Given the description of an element on the screen output the (x, y) to click on. 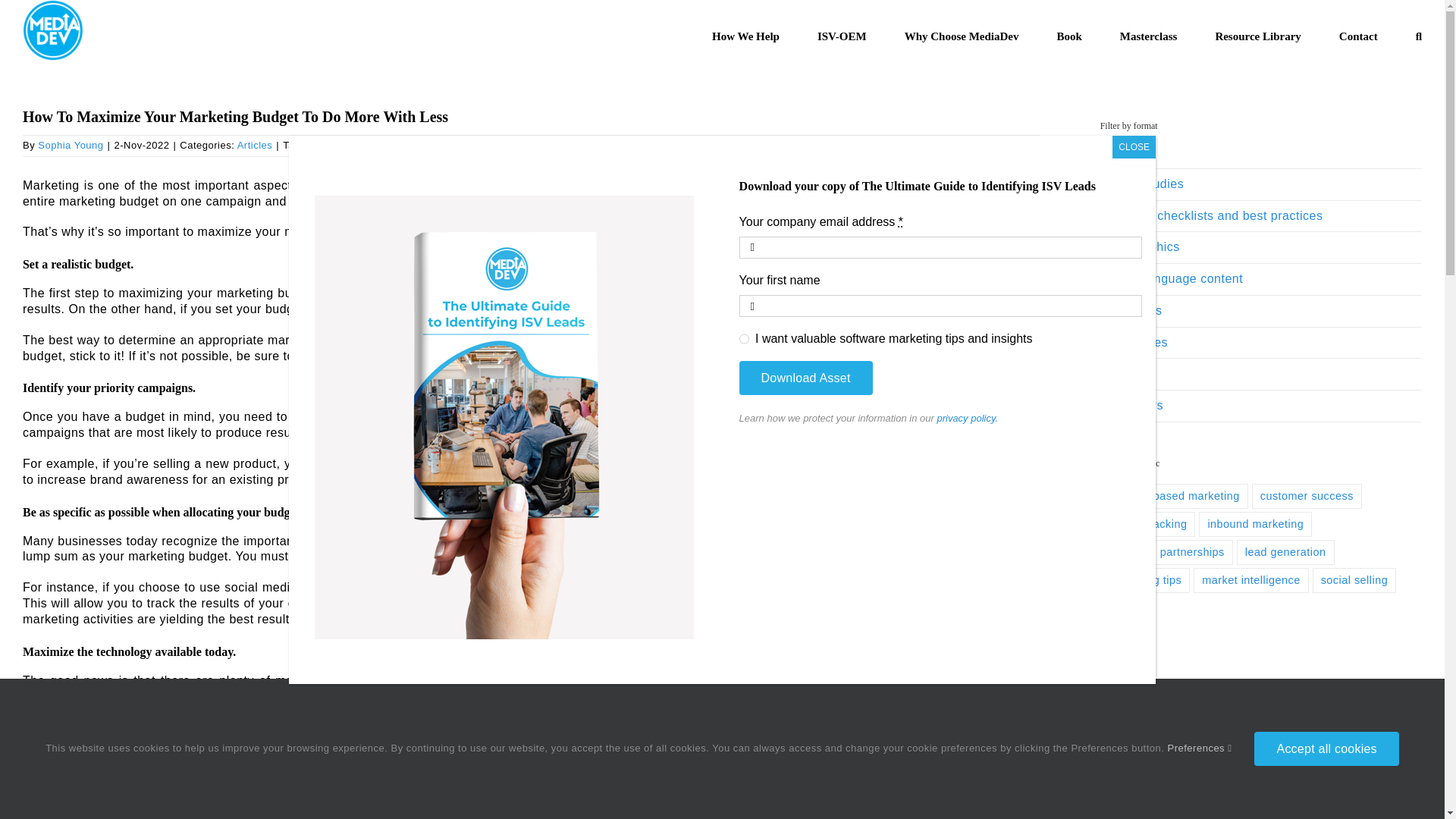
Book (1069, 32)
Resource Library (1257, 32)
Masterclass (1148, 32)
Contact (1358, 32)
Why Choose MediaDev (961, 32)
ISV-OEM (841, 32)
Search (1418, 32)
How We Help (744, 32)
Posts by Sophia Young (70, 144)
Sophia Young (70, 144)
